Given the description of an element on the screen output the (x, y) to click on. 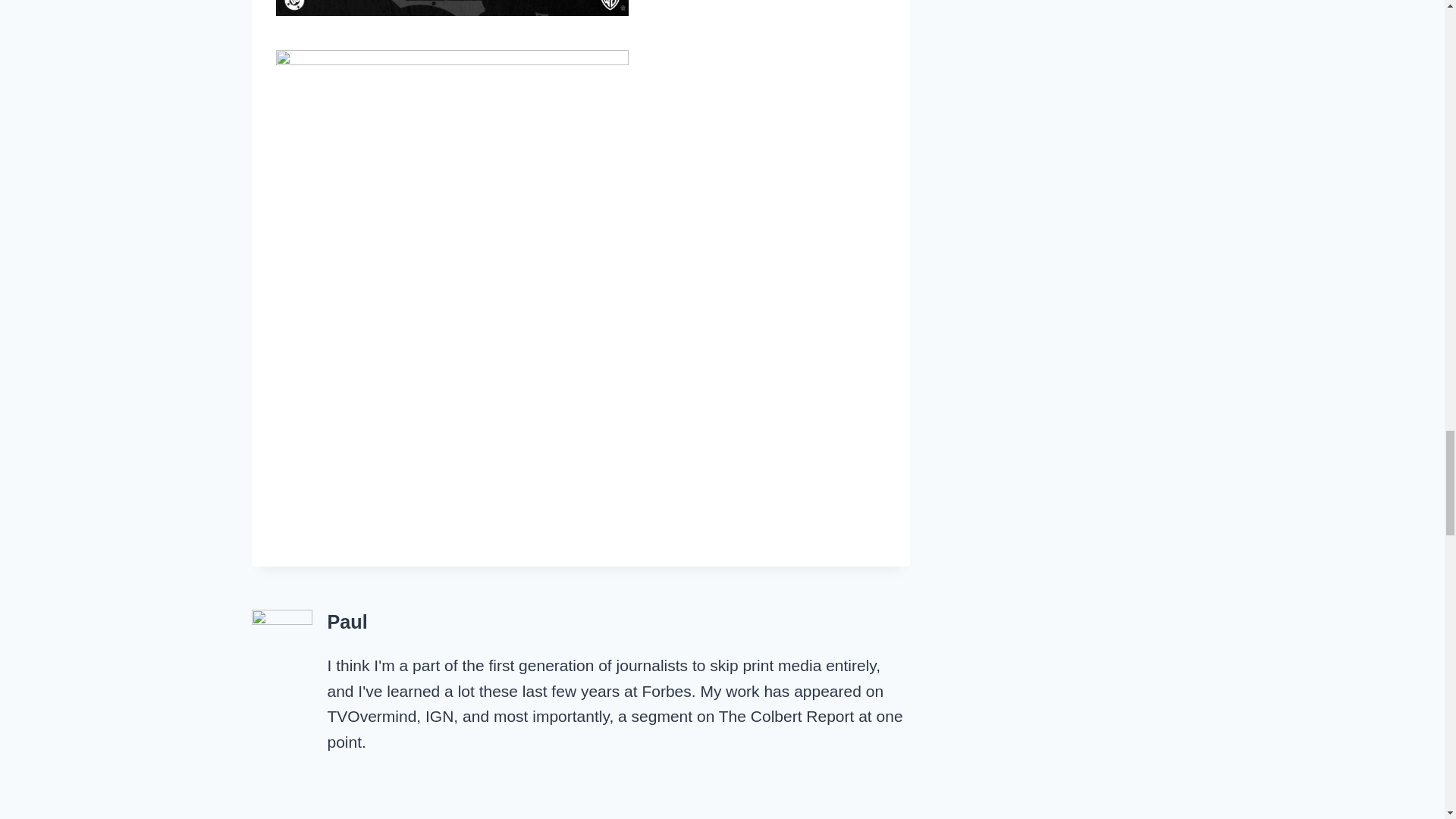
Posts by Paul (347, 621)
poster6 (452, 7)
Paul (347, 621)
